Given the description of an element on the screen output the (x, y) to click on. 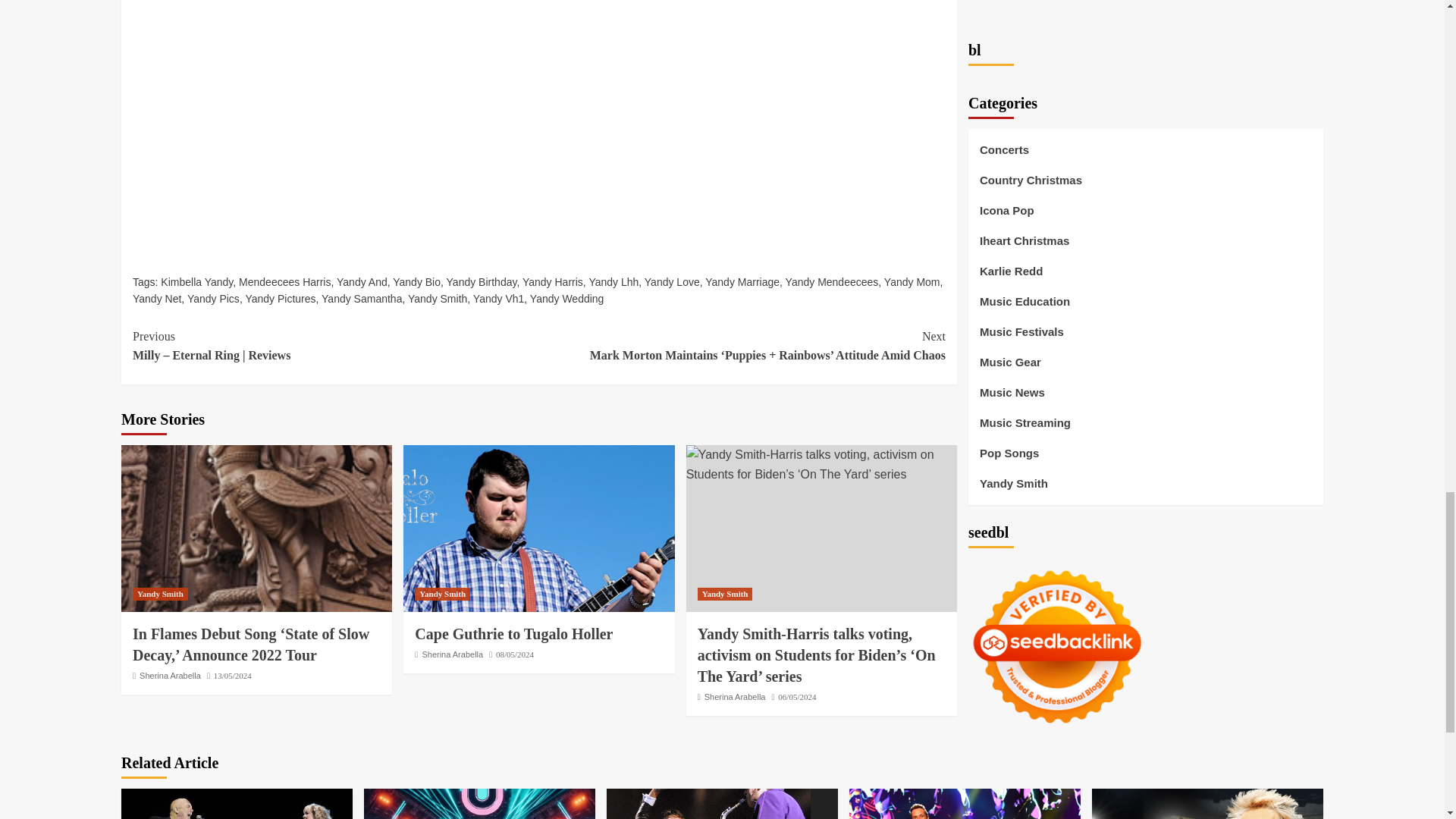
Yandy And (361, 282)
Yandy Lhh (613, 282)
Mendeecees Harris (284, 282)
Yandy Bio (417, 282)
Yandy Marriage (741, 282)
Yandy Harris (552, 282)
Cape Guthrie to Tugalo Holler (538, 528)
Kimbella Yandy (196, 282)
Cocktail Slippers: The Best Rockband from Oslo, Norway (479, 803)
Yandy Love (672, 282)
